Given the description of an element on the screen output the (x, y) to click on. 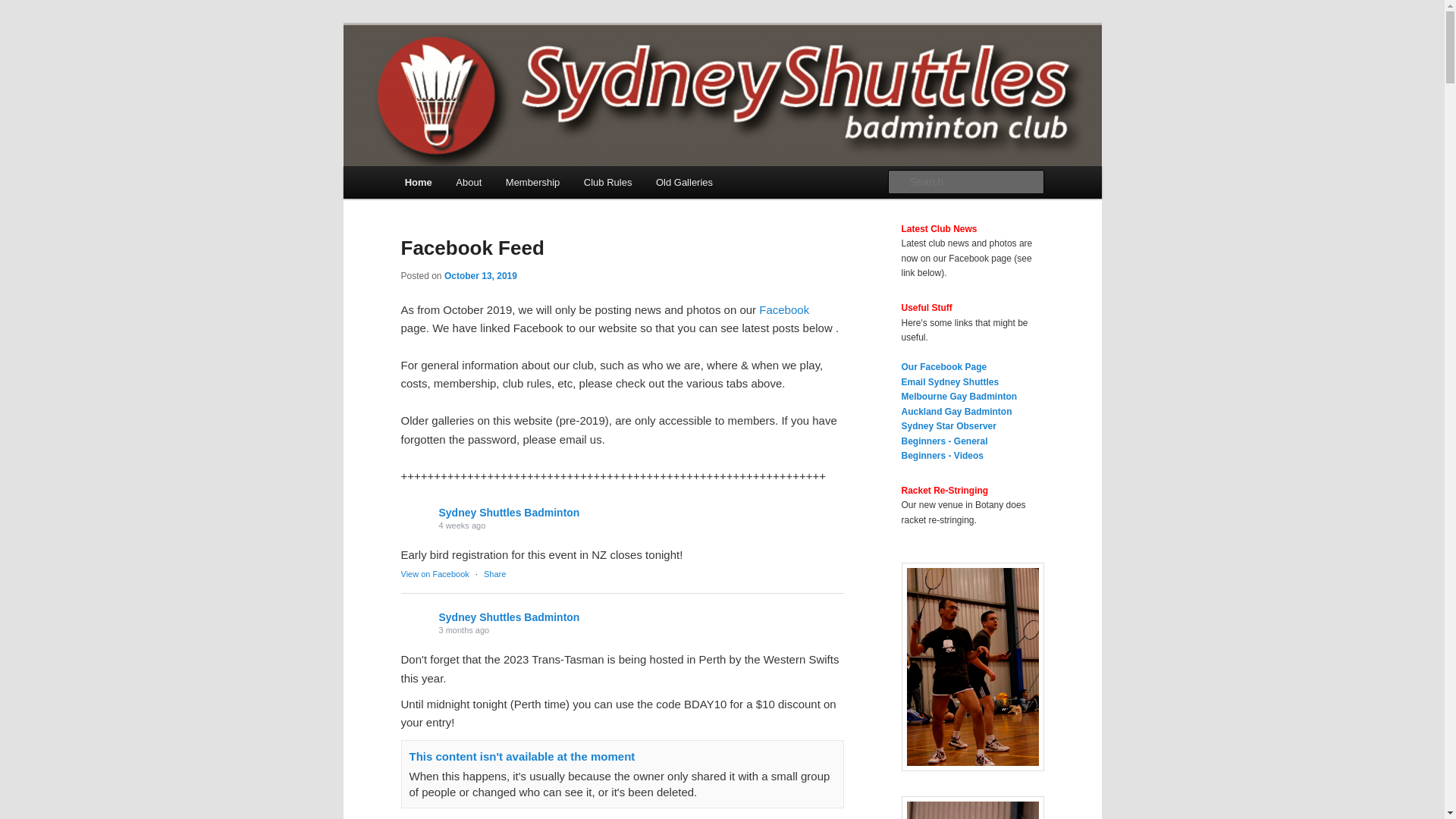
October 13, 2019 Element type: text (480, 274)
Search Element type: text (24, 8)
Melbourne Gay Badminton Element type: text (958, 396)
About Element type: text (468, 182)
Email Sydney Shuttles Element type: text (949, 381)
Sydney Shuttles Badminton Element type: text (508, 617)
Club Rules Element type: text (607, 182)
Sydney Star Observer Element type: text (947, 425)
Membership Element type: text (532, 182)
Sydney Shuttles Element type: text (488, 78)
Facebook Feed Element type: text (471, 247)
Old Galleries Element type: text (683, 182)
Facebook Element type: text (784, 309)
Share Element type: text (494, 573)
Beginners - General Element type: text (943, 441)
Sydney Shuttles Badminton Element type: text (508, 512)
This content isn't available at the moment Element type: text (522, 755)
Skip to primary content Element type: text (22, 22)
Beginners - Videos Element type: text (941, 455)
Auckland Gay Badminton Element type: text (955, 411)
View on Facebook Element type: text (434, 573)
Home Element type: text (418, 182)
Our Facebook Page Element type: text (943, 366)
